Given the description of an element on the screen output the (x, y) to click on. 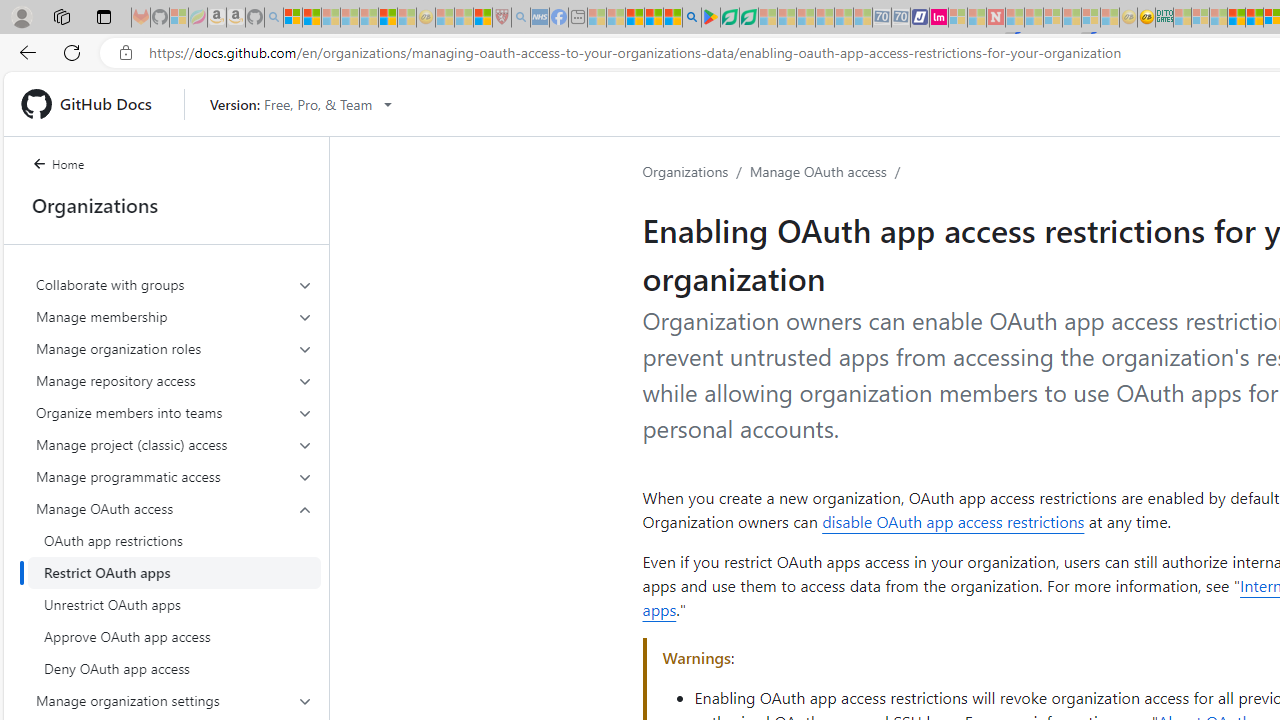
Kinda Frugal - MSN (1254, 17)
OAuth app restrictions (174, 540)
MSNBC - MSN - Sleeping (1182, 17)
Manage programmatic access (174, 476)
Manage project (classic) access (174, 444)
Organize members into teams (174, 412)
Deny OAuth app access (174, 668)
disable OAuth app access restrictions (953, 521)
Manage programmatic access (174, 476)
Manage OAuth access (817, 171)
Restrict OAuth apps (174, 572)
